Given the description of an element on the screen output the (x, y) to click on. 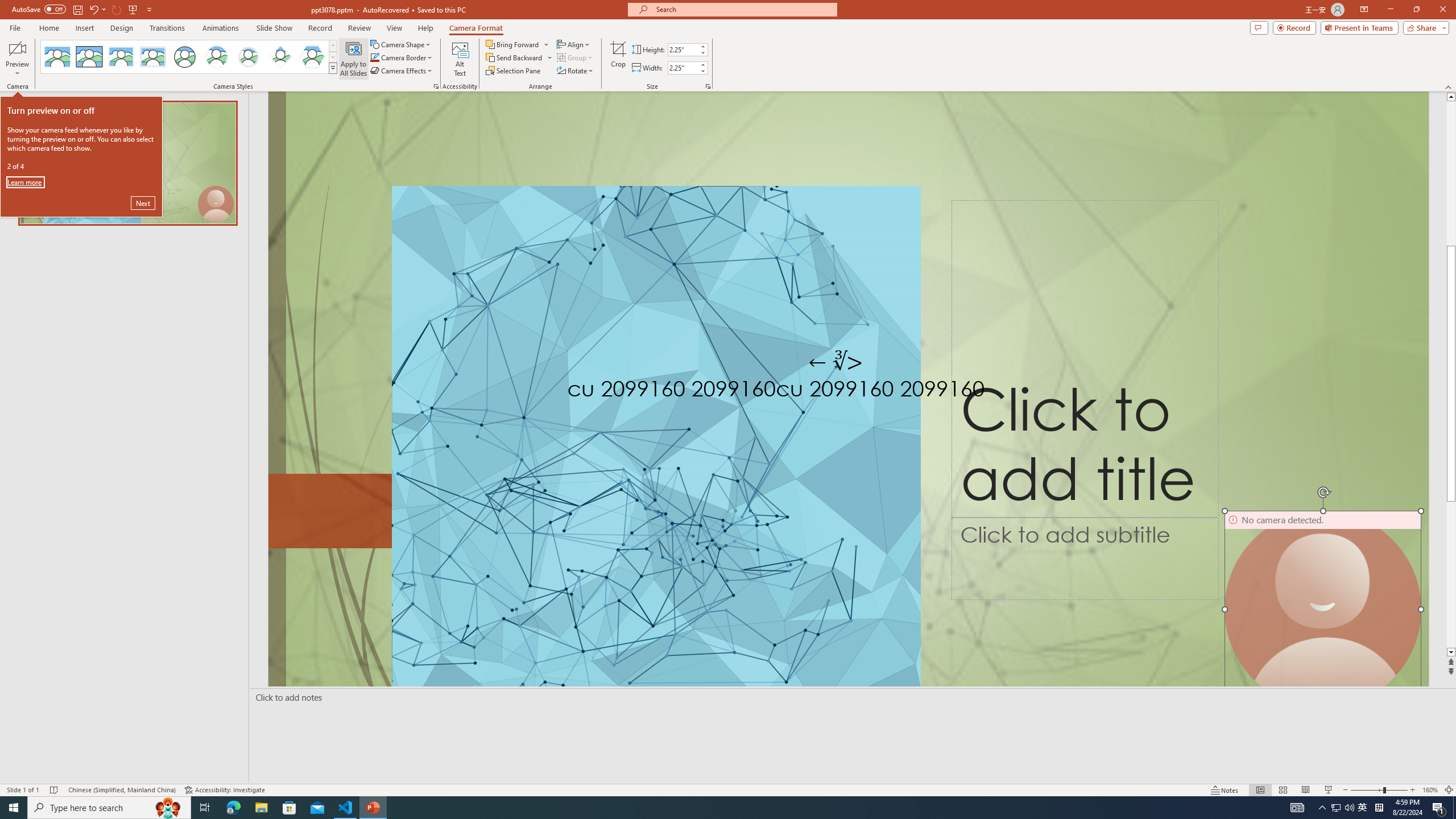
Camera Effects (402, 69)
Action Center, 1 new notification (1439, 807)
Cameo Height (682, 49)
Group (575, 56)
Center Shadow Diamond (280, 56)
Size and Position... (707, 85)
